Given the description of an element on the screen output the (x, y) to click on. 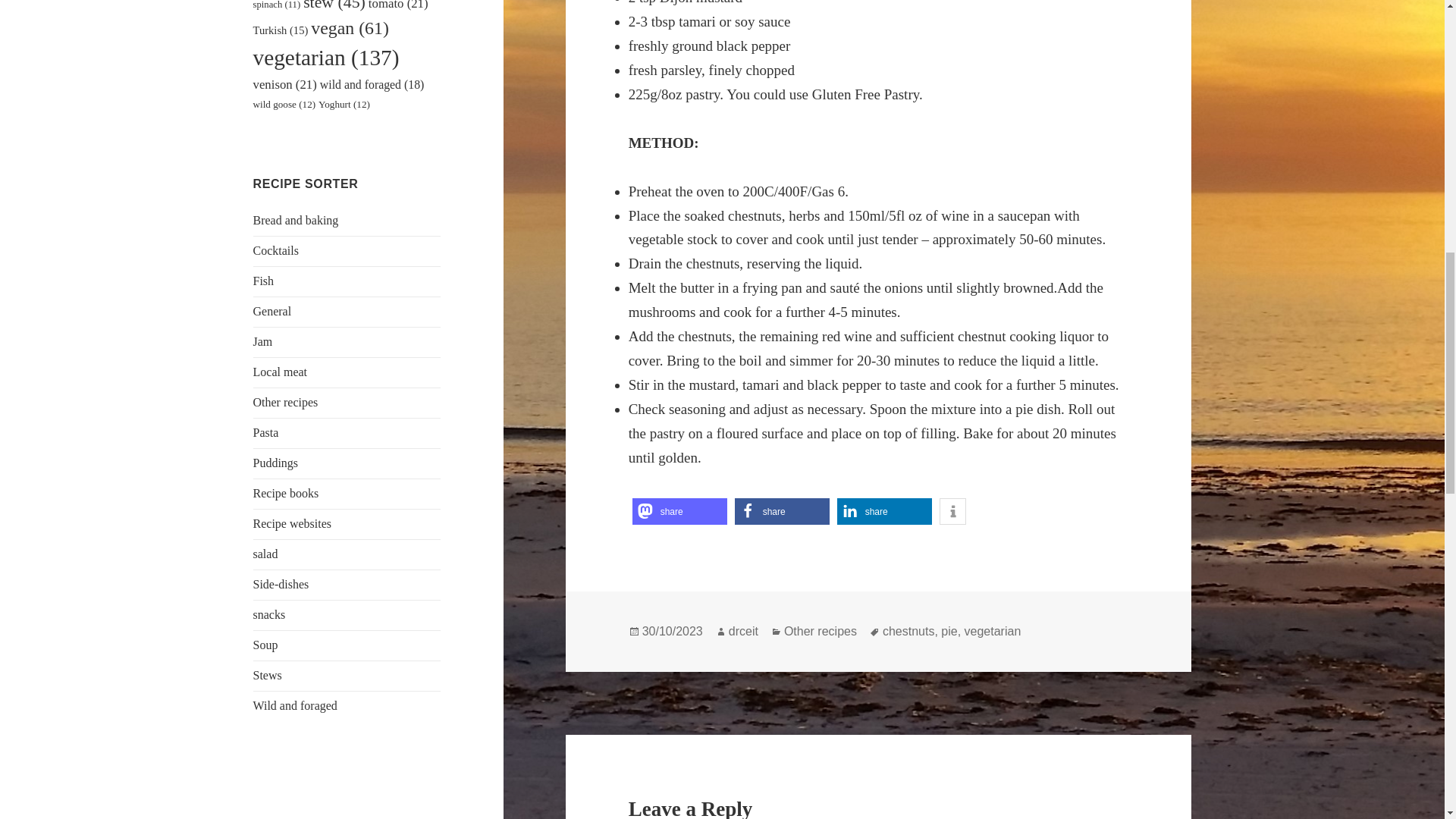
Share on LinkedIn (884, 510)
Share on Mastodon (678, 510)
Share on Facebook (782, 510)
More information (952, 510)
